Given the description of an element on the screen output the (x, y) to click on. 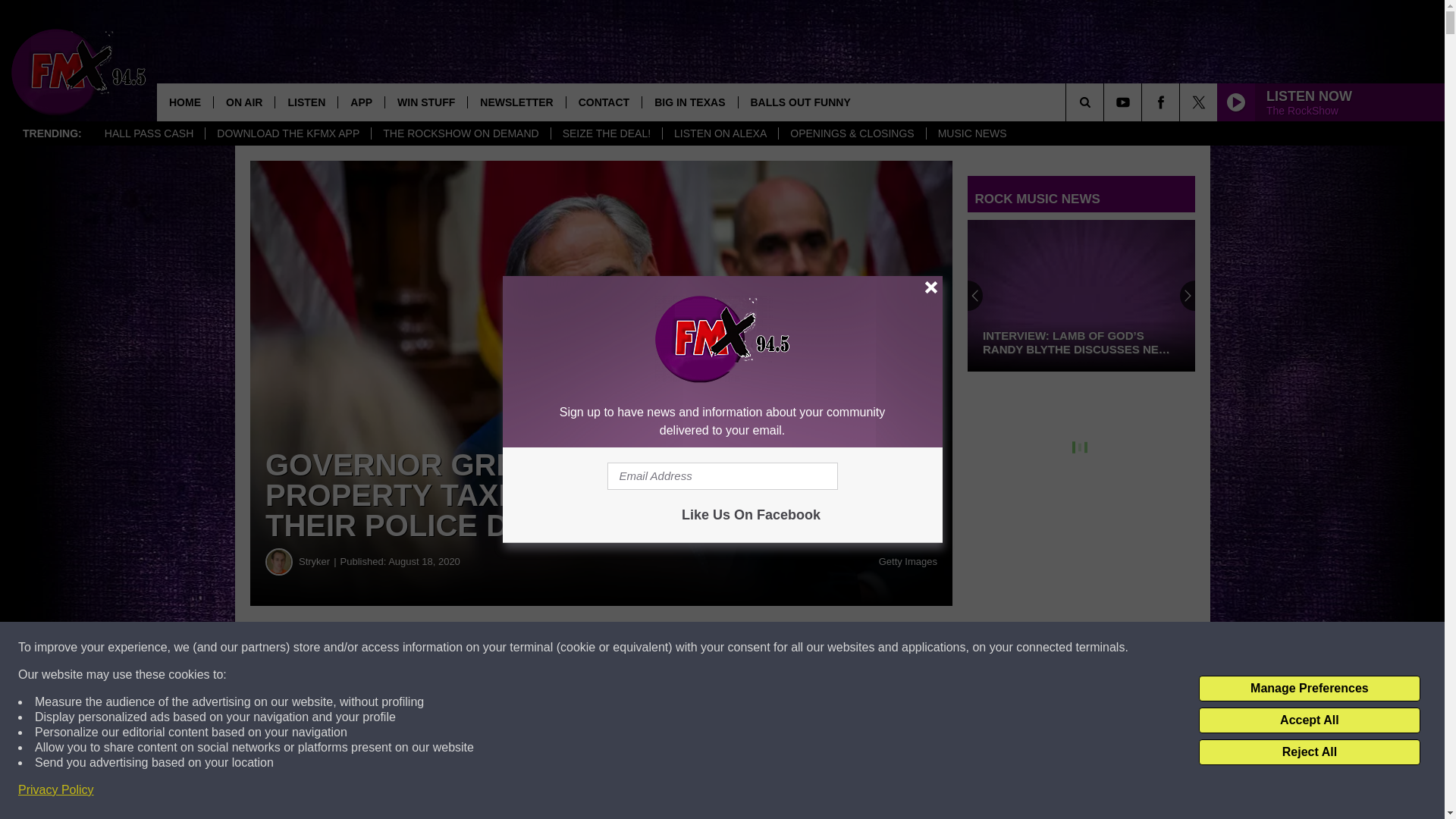
SEIZE THE DEAL! (606, 133)
ON AIR (243, 102)
Share on Facebook (460, 647)
LISTEN (306, 102)
THE ROCKSHOW ON DEMAND (460, 133)
SEARCH (1106, 102)
WIN STUFF (425, 102)
APP (360, 102)
DOWNLOAD THE KFMX APP (288, 133)
Manage Preferences (1309, 688)
Email Address (722, 475)
LISTEN ON ALEXA (719, 133)
Share on Twitter (741, 647)
Reject All (1309, 751)
MUSIC NEWS (971, 133)
